Given the description of an element on the screen output the (x, y) to click on. 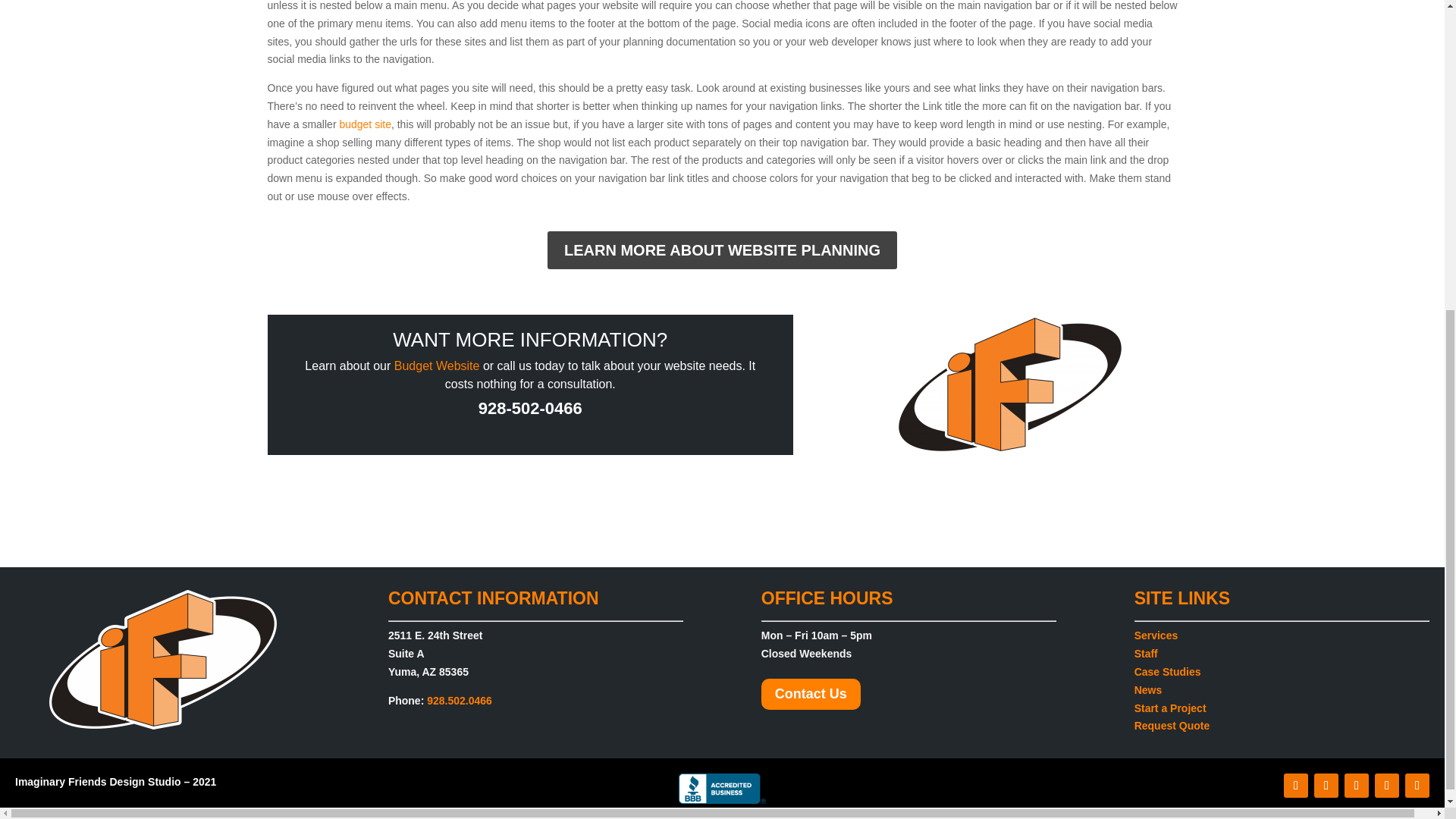
Follow on X (1326, 785)
Follow on LinkedIn (1417, 785)
Planning Your Navigation Bars (1010, 384)
AB-seal-horz (721, 788)
Follow on Youtube (1386, 785)
Follow on Facebook (1295, 785)
Follow on Instagram (1355, 785)
budget site (365, 123)
if-logo-large (162, 659)
